Given the description of an element on the screen output the (x, y) to click on. 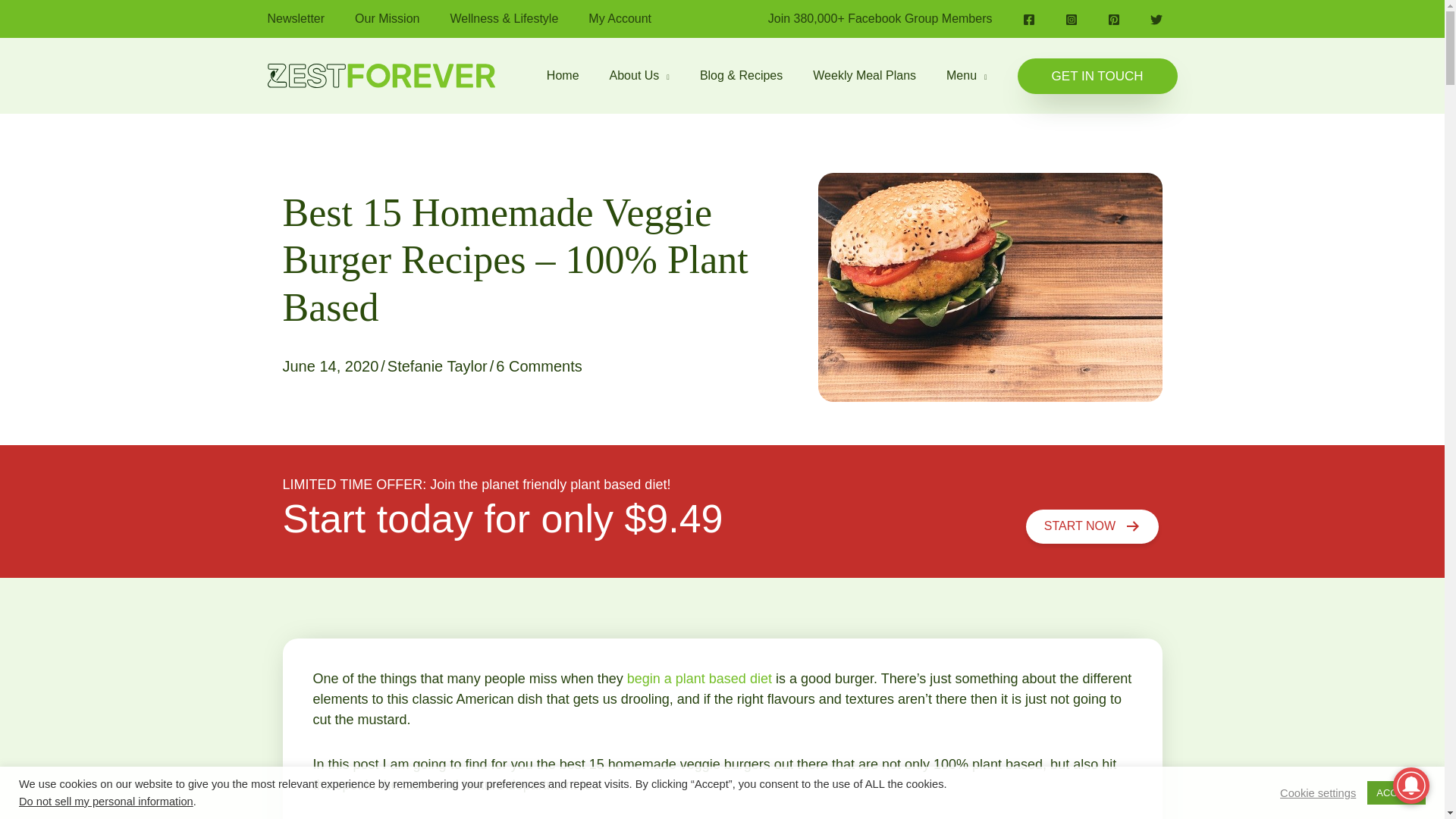
Our Mission (402, 18)
About Us (639, 75)
My Account (634, 18)
Weekly Meal Plans (864, 75)
Menu (967, 75)
Newsletter (310, 18)
GET IN TOUCH (1097, 75)
